Given the description of an element on the screen output the (x, y) to click on. 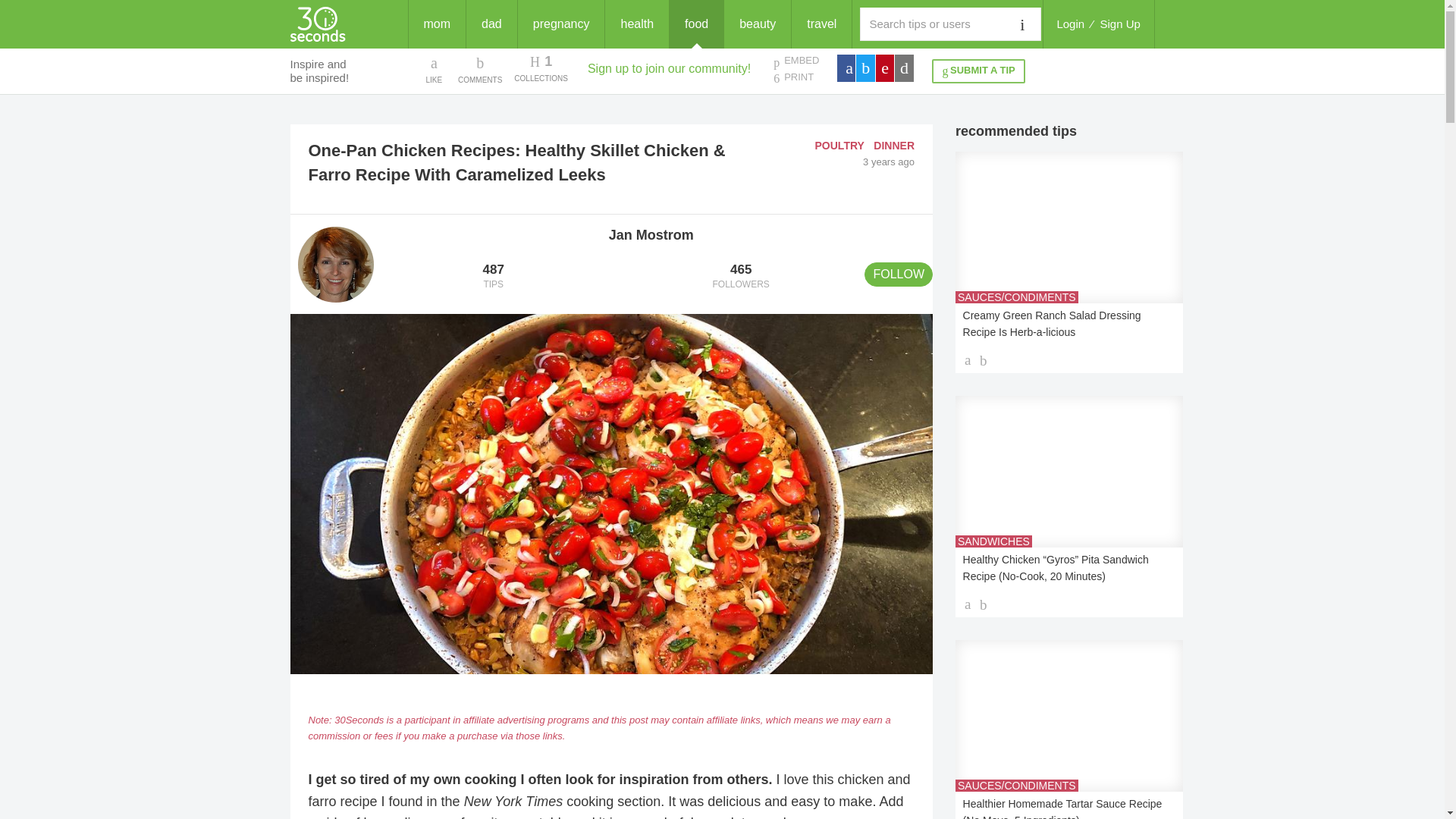
EMBED (795, 61)
beauty (756, 24)
Sign up to join our community! (669, 68)
DINNER (540, 68)
Login (493, 276)
COMMENTS (893, 145)
travel (1069, 23)
health (480, 68)
